Given the description of an element on the screen output the (x, y) to click on. 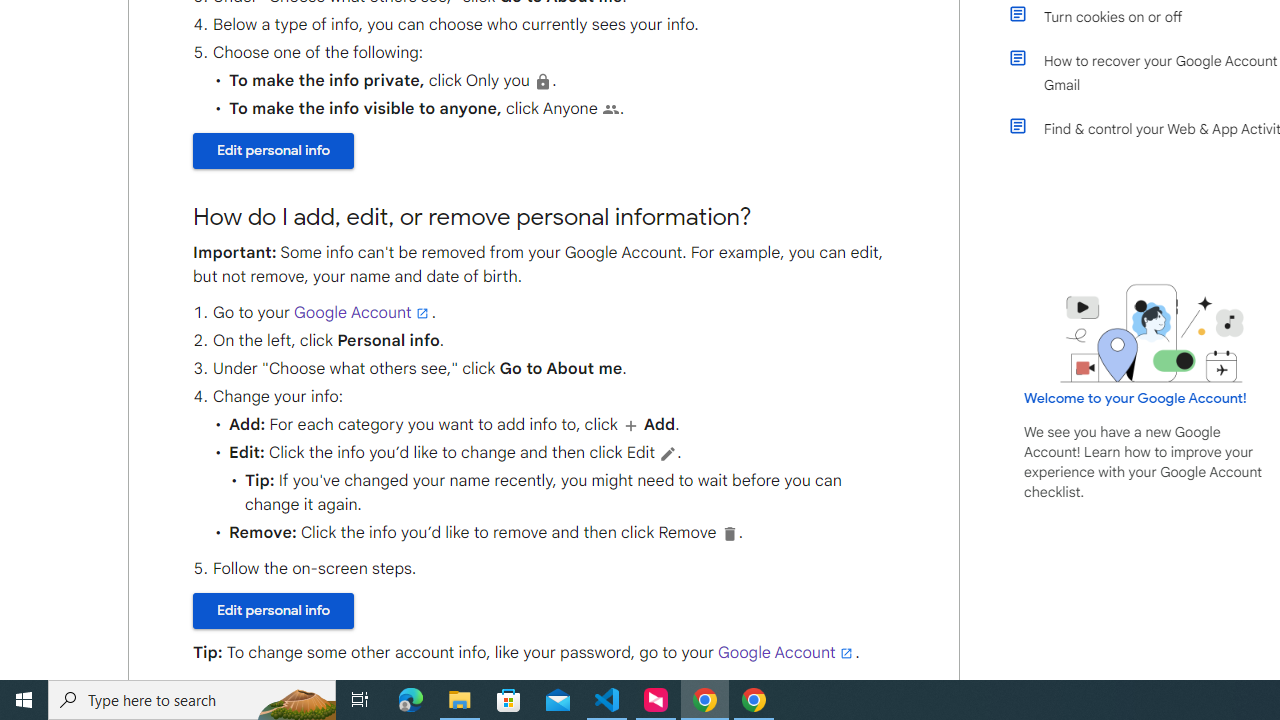
Private, tap to edit who can see this info (542, 81)
Welcome to your Google Account! (1135, 397)
Google Account (786, 652)
Edit (668, 453)
Delete (728, 533)
People (610, 109)
Learning Center home page image (1152, 333)
Edit personal info (273, 611)
Add user (631, 425)
